Given the description of an element on the screen output the (x, y) to click on. 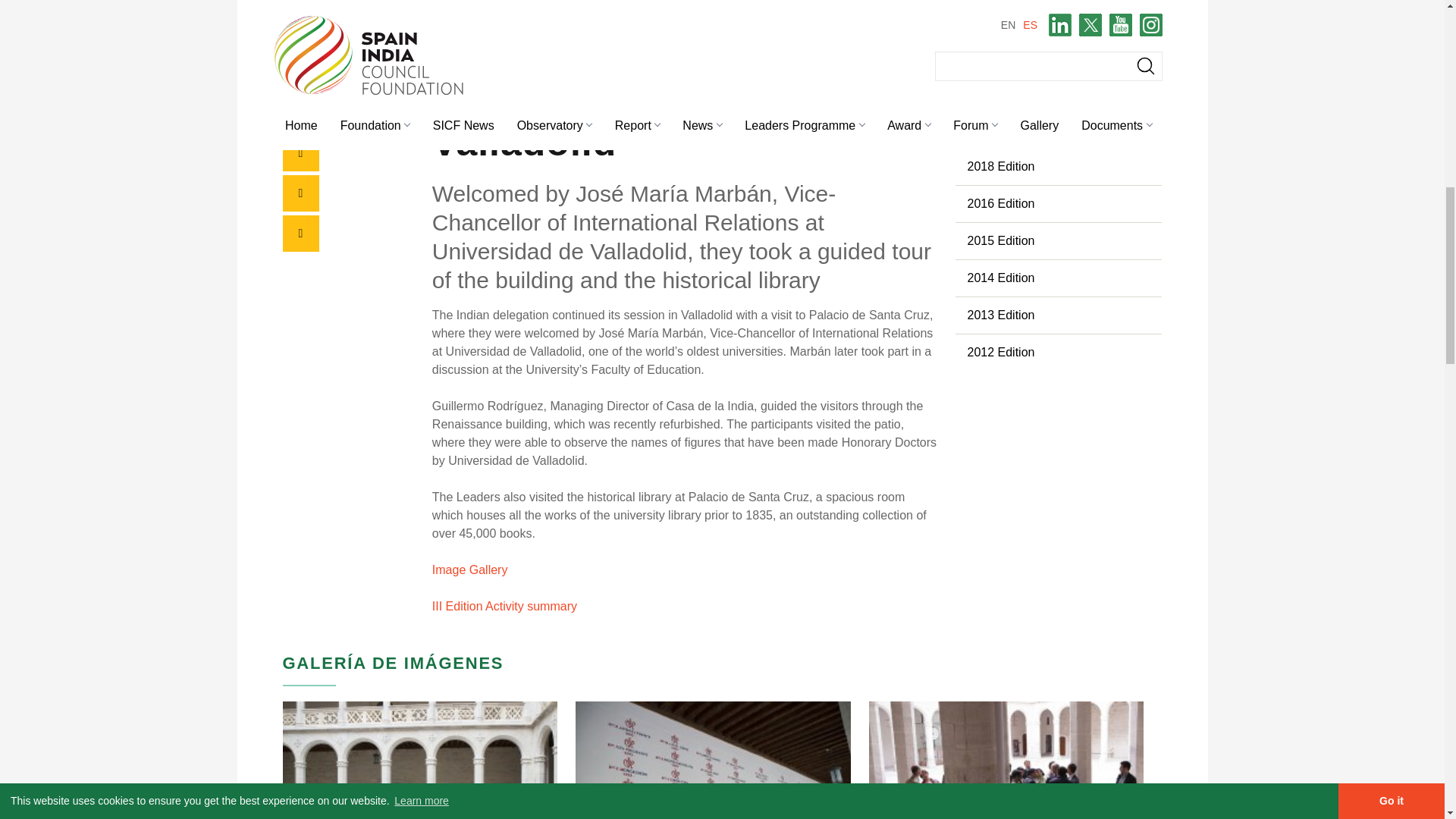
Detalle del Palacio de Santa Cruz, sede de la universidad (712, 760)
Llegada a la Universidad de Valladolid (419, 760)
